Given the description of an element on the screen output the (x, y) to click on. 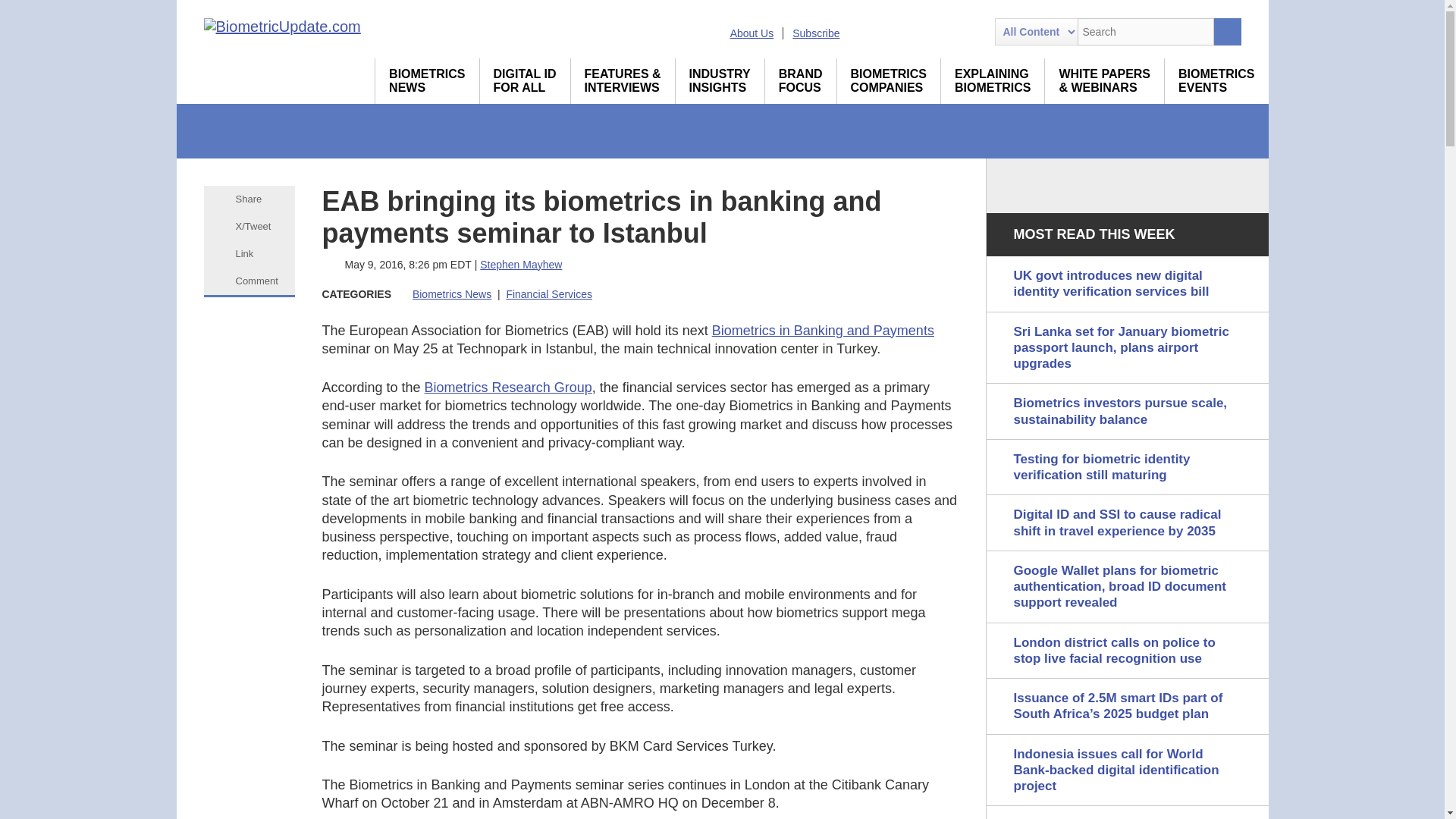
Subscribe (815, 33)
Guest posts written by biometrics industry experts  (719, 81)
Biometrics companies, solutions and applications (888, 81)
linkedin (890, 31)
spotify (971, 31)
Resources: White Papers, Webinars and Explainers (1104, 81)
Biometrics and digital ID initiatives in developing nations (525, 81)
Trade shows featuring biometrics technology (1216, 81)
facebook (944, 31)
rss (862, 31)
Biometrics marketplace brand focus (800, 81)
twitter (917, 31)
About Us (751, 33)
Features, interviews and special reports (622, 81)
